Given the description of an element on the screen output the (x, y) to click on. 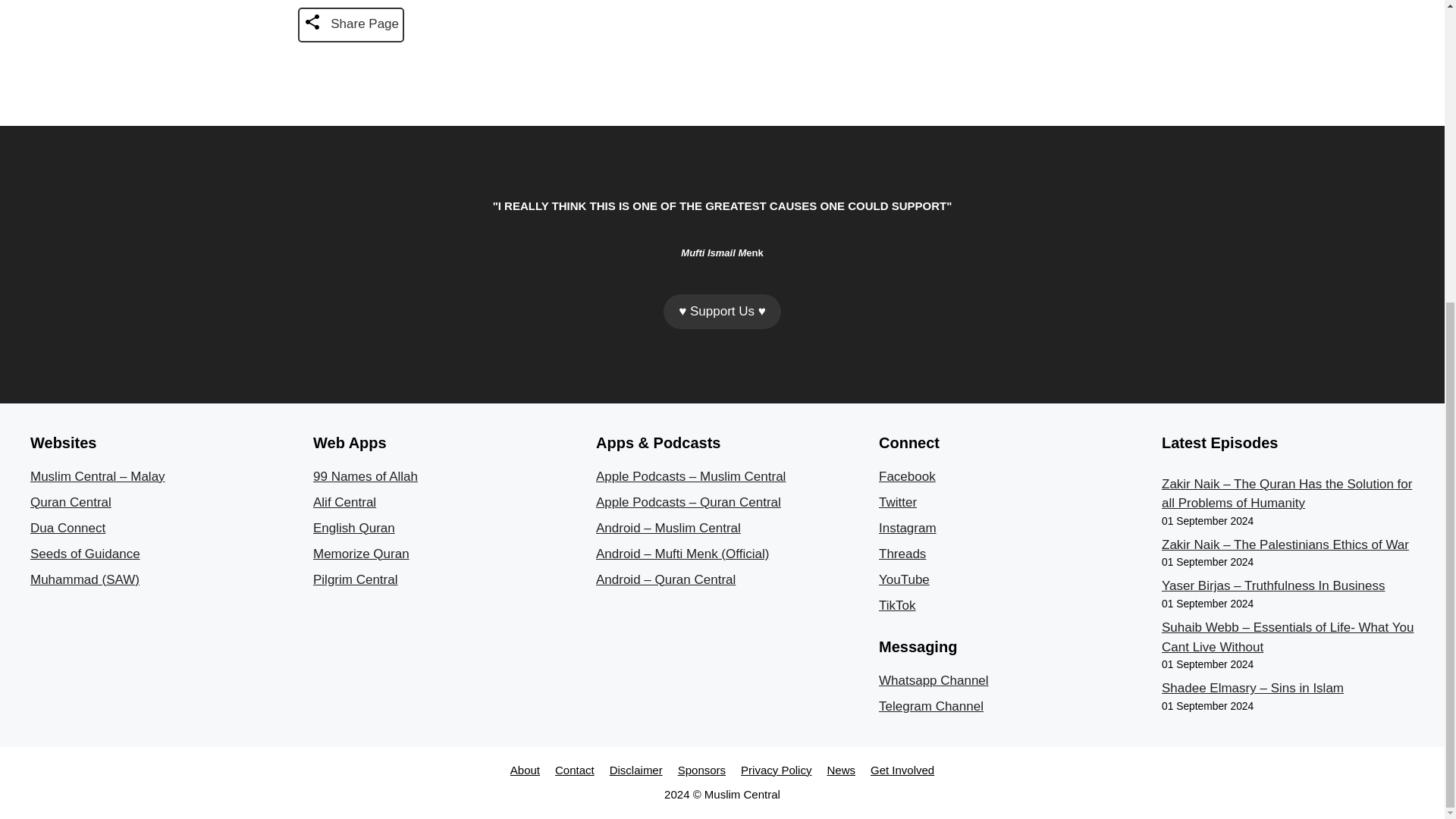
Memorize Quran (361, 554)
Dua Connect (67, 527)
99 Names of Allah (365, 476)
Alif Central (344, 502)
Pilgrim Central (355, 579)
Facebook (907, 476)
Seeds of Guidance (84, 554)
Quran Central (71, 502)
English Quran (353, 527)
